Given the description of an element on the screen output the (x, y) to click on. 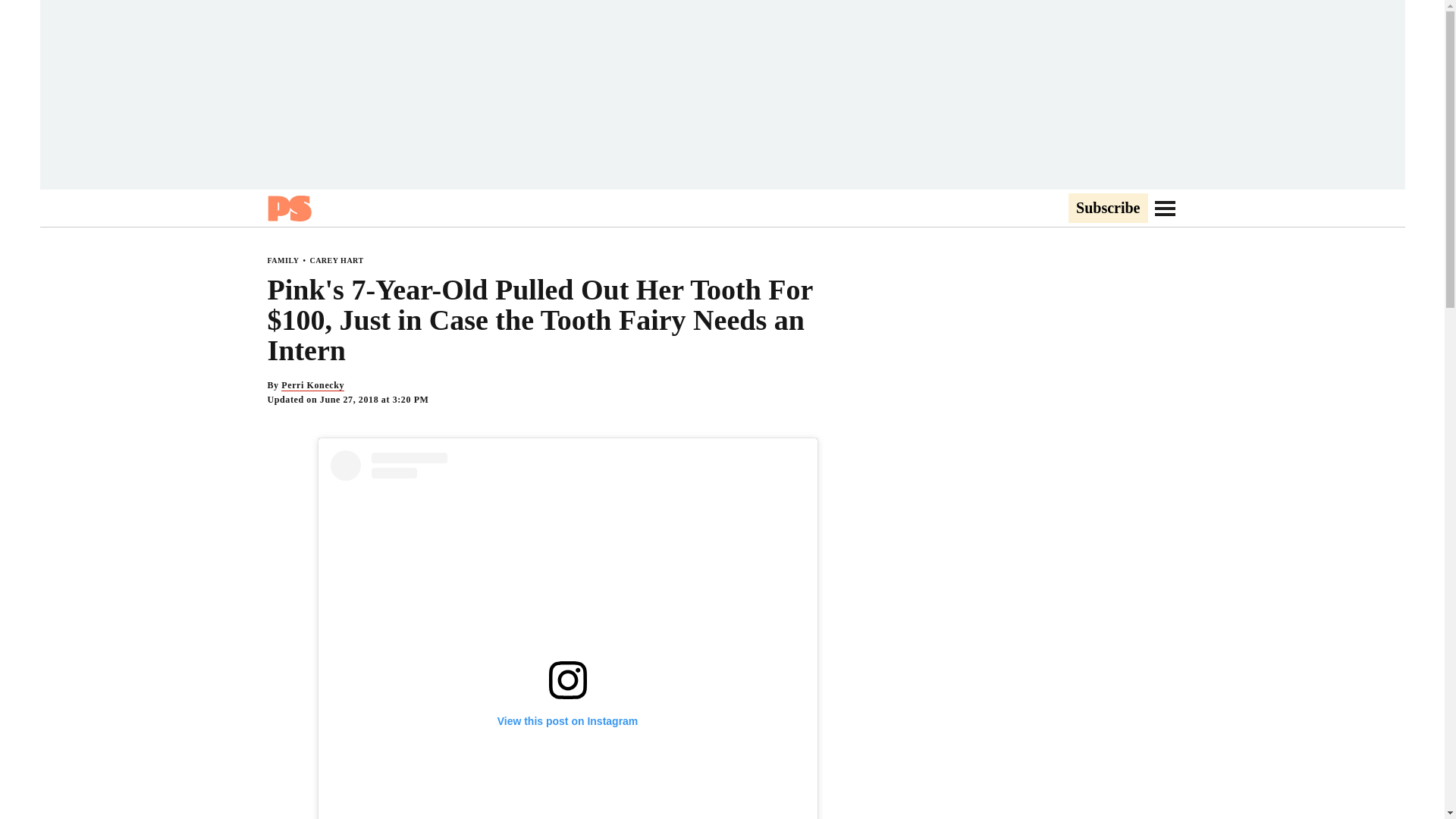
CAREY HART (335, 260)
Perri Konecky (312, 385)
FAMILY (282, 260)
Go to Navigation (1164, 207)
Popsugar (288, 208)
Subscribe (1107, 208)
Go to Navigation (1164, 207)
